Given the description of an element on the screen output the (x, y) to click on. 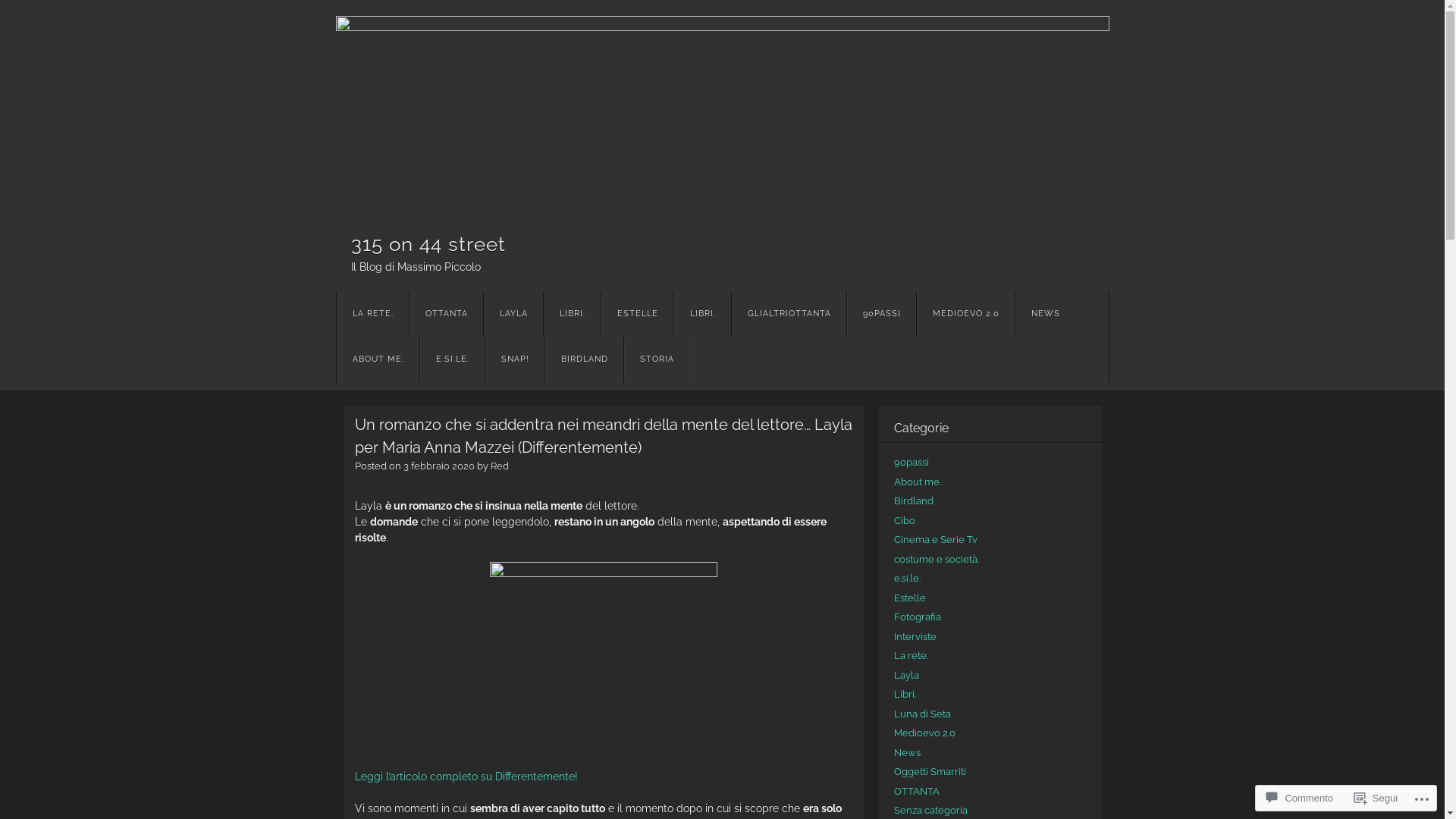
Medioevo 2.0 Element type: text (923, 732)
Layla Element type: text (905, 674)
OTTANTA Element type: text (915, 791)
Cinema e Serie Tv Element type: text (934, 539)
Estelle Element type: text (909, 596)
90PASSI Element type: text (880, 314)
90passi Element type: text (910, 461)
Interviste Element type: text (914, 636)
LIBRI. Element type: text (701, 314)
News Element type: text (906, 751)
NEWS Element type: text (1044, 314)
Senza categoria Element type: text (929, 809)
315 on 44 street Element type: text (427, 243)
Fotografia Element type: text (916, 616)
Red Element type: text (498, 465)
SNAP! Element type: text (514, 359)
LIBRI. Element type: text (570, 314)
ABOUT ME. Element type: text (377, 359)
La rete. Element type: text (910, 655)
Luna di Seta Element type: text (921, 713)
LAYLA Element type: text (512, 314)
3 febbraio 2020 Element type: text (438, 465)
Oggetti Smarriti Element type: text (929, 771)
315 on 44 street Element type: hover (721, 110)
Commento Element type: text (1299, 797)
Libri. Element type: text (904, 693)
GLIALTRIOTTANTA Element type: text (788, 314)
e.si.le. Element type: text (906, 577)
Cibo Element type: text (903, 519)
Birdland Element type: text (912, 500)
STORIA Element type: text (656, 359)
E.SI.LE. Element type: text (452, 359)
OTTANTA Element type: text (446, 314)
ESTELLE Element type: text (636, 314)
BIRDLAND Element type: text (583, 359)
MEDIOEVO 2.0 Element type: text (964, 314)
About me. Element type: text (916, 481)
LA RETE. Element type: text (372, 314)
Segui Element type: text (1375, 797)
